Given the description of an element on the screen output the (x, y) to click on. 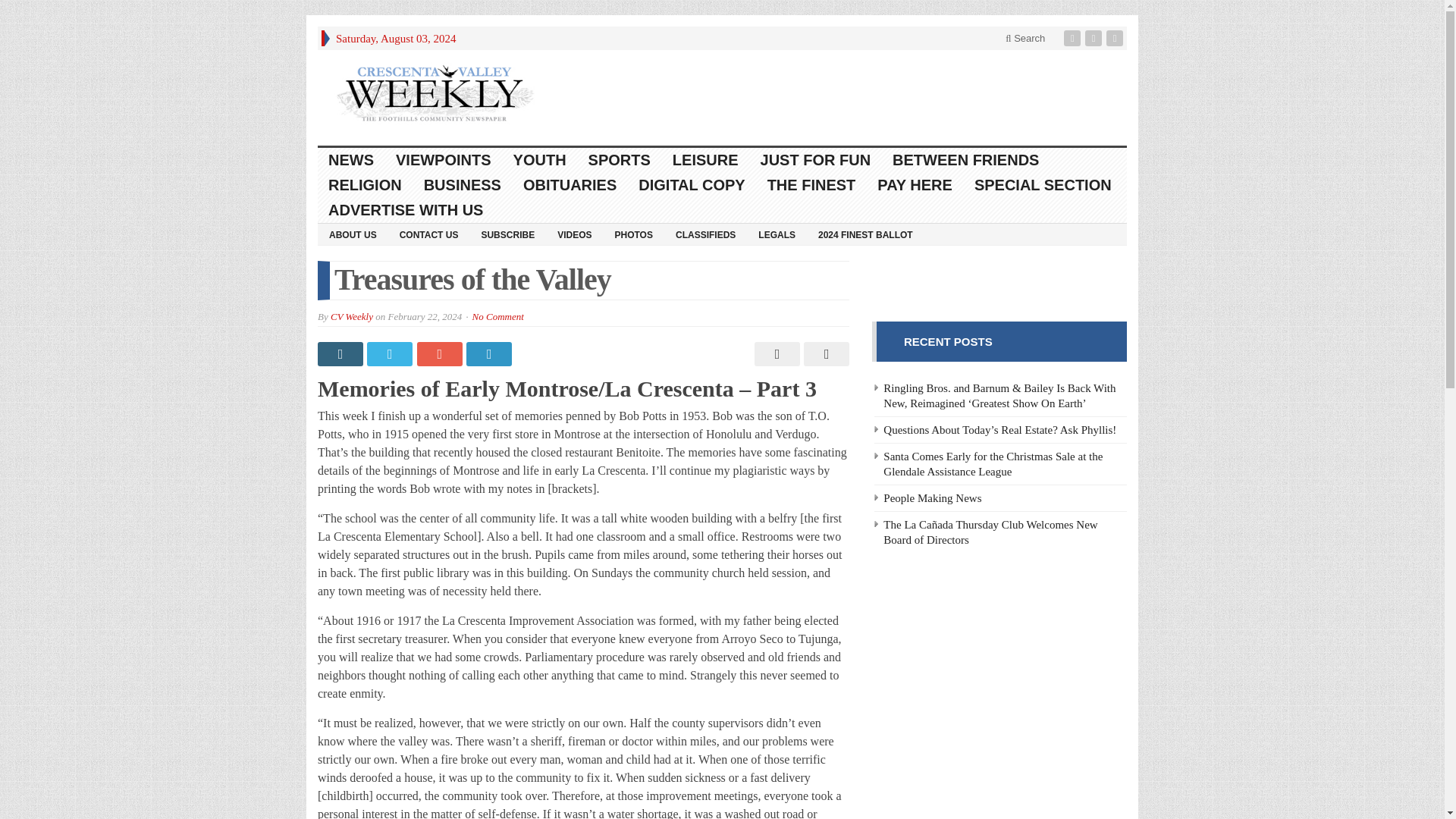
Search (1024, 37)
NEWS (351, 160)
YOUTH (540, 160)
PHOTOS (633, 233)
Send by Email (823, 354)
LEISURE (705, 160)
Share on Twitter (391, 354)
Share on LinkedIn (490, 354)
PAY HERE (914, 185)
ABOUT US (352, 233)
The Foothills Community Newspaper (435, 93)
Site feed (1115, 37)
Twitter (1094, 37)
CV Weekly (351, 316)
2024 FINEST BALLOT (865, 233)
